Given the description of an element on the screen output the (x, y) to click on. 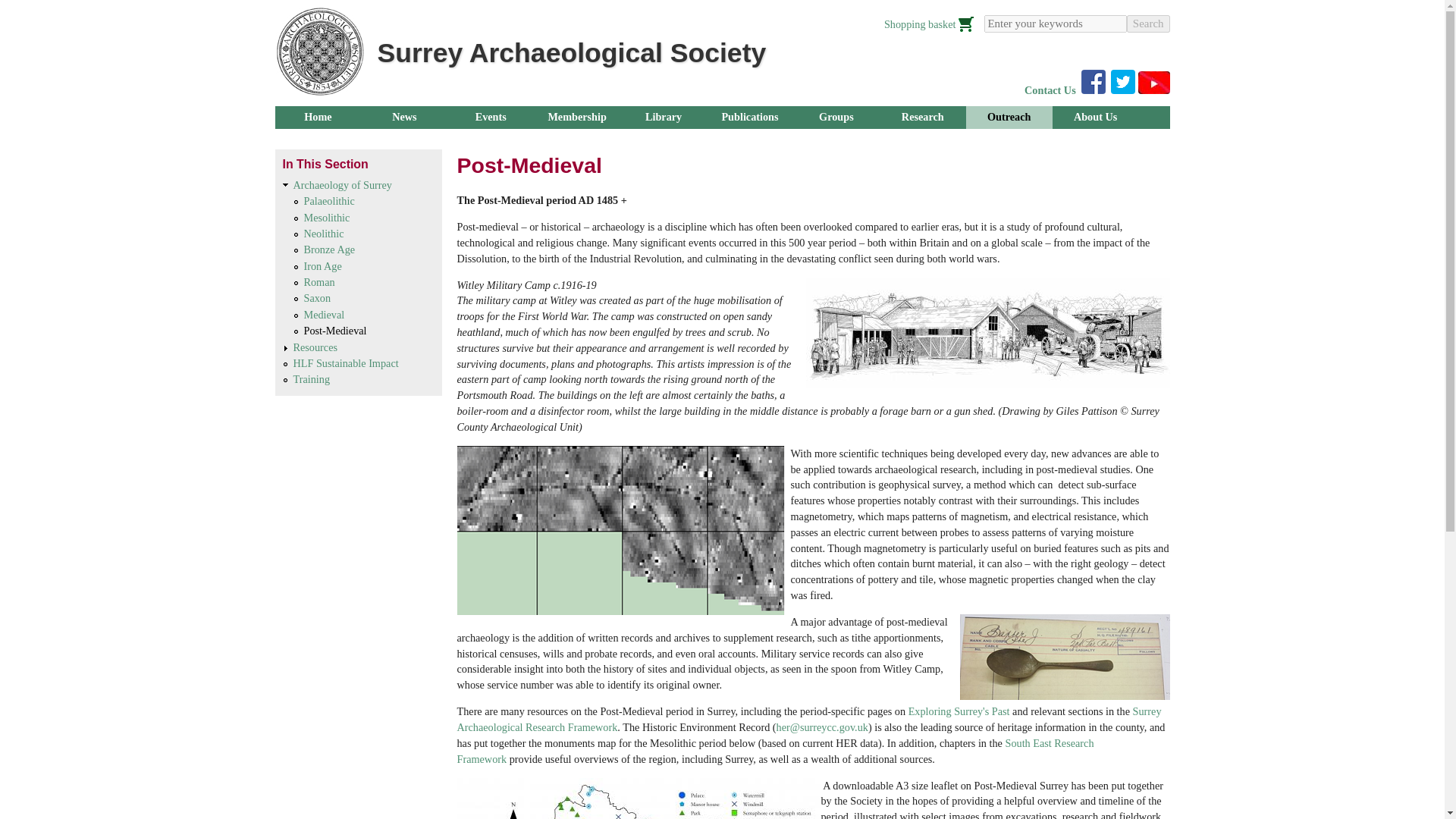
Membership (577, 117)
Events (490, 117)
News (403, 117)
Shopping basket (929, 24)
Home (318, 51)
Facebook (1093, 81)
Search (1148, 23)
Publications (749, 117)
Library (663, 117)
Twitter (1122, 81)
Surrey Archaeological Society (572, 52)
Contact Us (1050, 90)
Home (318, 117)
Home (572, 52)
